Given the description of an element on the screen output the (x, y) to click on. 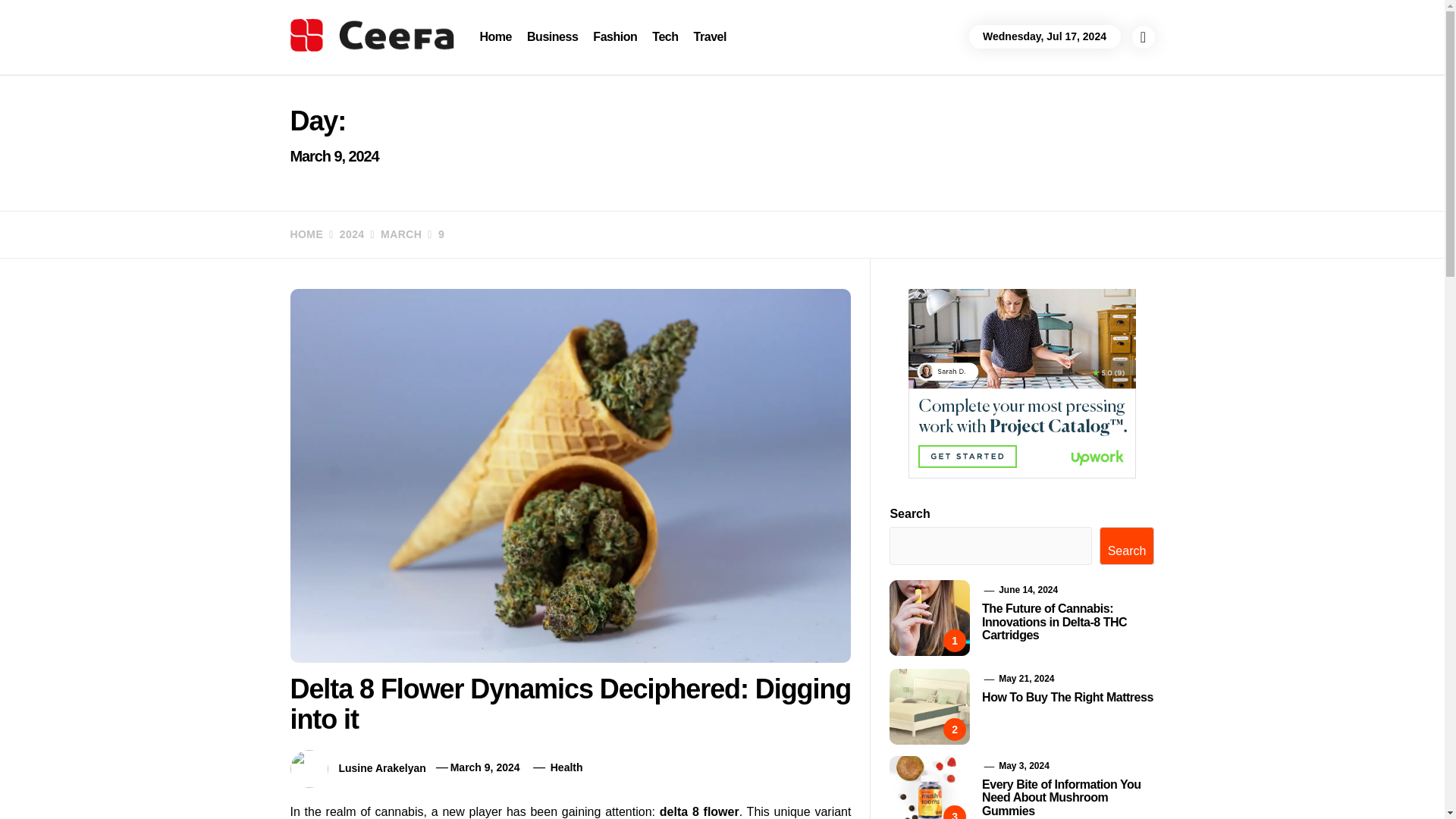
Business (552, 36)
MARCH (393, 234)
Fashion (615, 36)
2024 (343, 234)
Every Bite of Information You Need About Mushroom Gummies (1061, 797)
How To Buy The Right Mattress (1067, 697)
Search (797, 41)
Ceefa (324, 72)
Lusine Arakelyan (381, 767)
Delta 8 Flower Dynamics Deciphered: Digging into it (569, 703)
delta 8 flower (699, 811)
Home (495, 36)
HOME (306, 234)
Search (1126, 546)
